Given the description of an element on the screen output the (x, y) to click on. 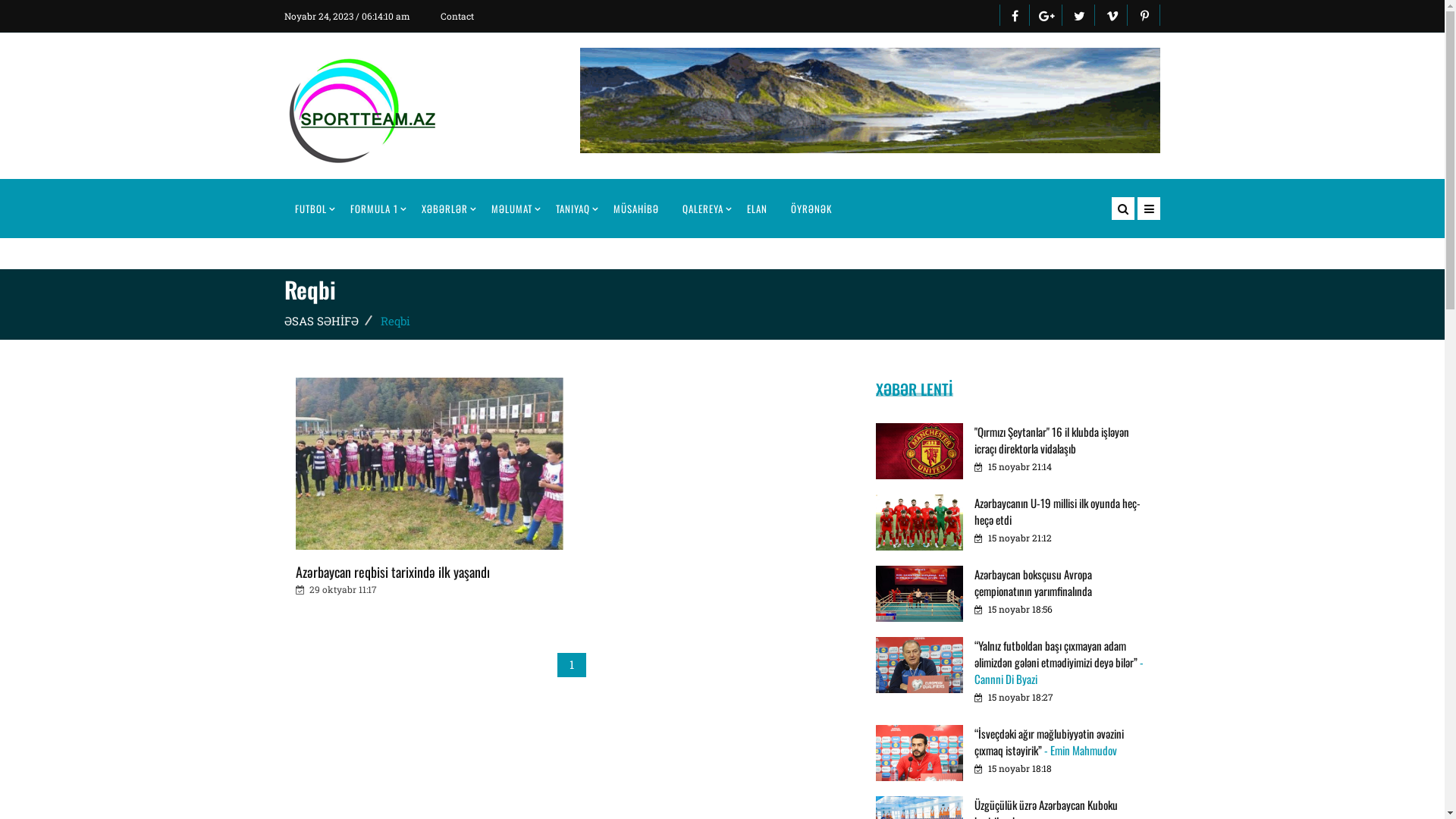
1 Element type: text (570, 664)
FUTBOL Element type: text (310, 208)
ELAN Element type: text (757, 208)
TANIYAQ Element type: text (572, 208)
Contact Element type: text (458, 15)
QALEREYA Element type: text (702, 208)
FORMULA 1 Element type: text (373, 208)
